Given the description of an element on the screen output the (x, y) to click on. 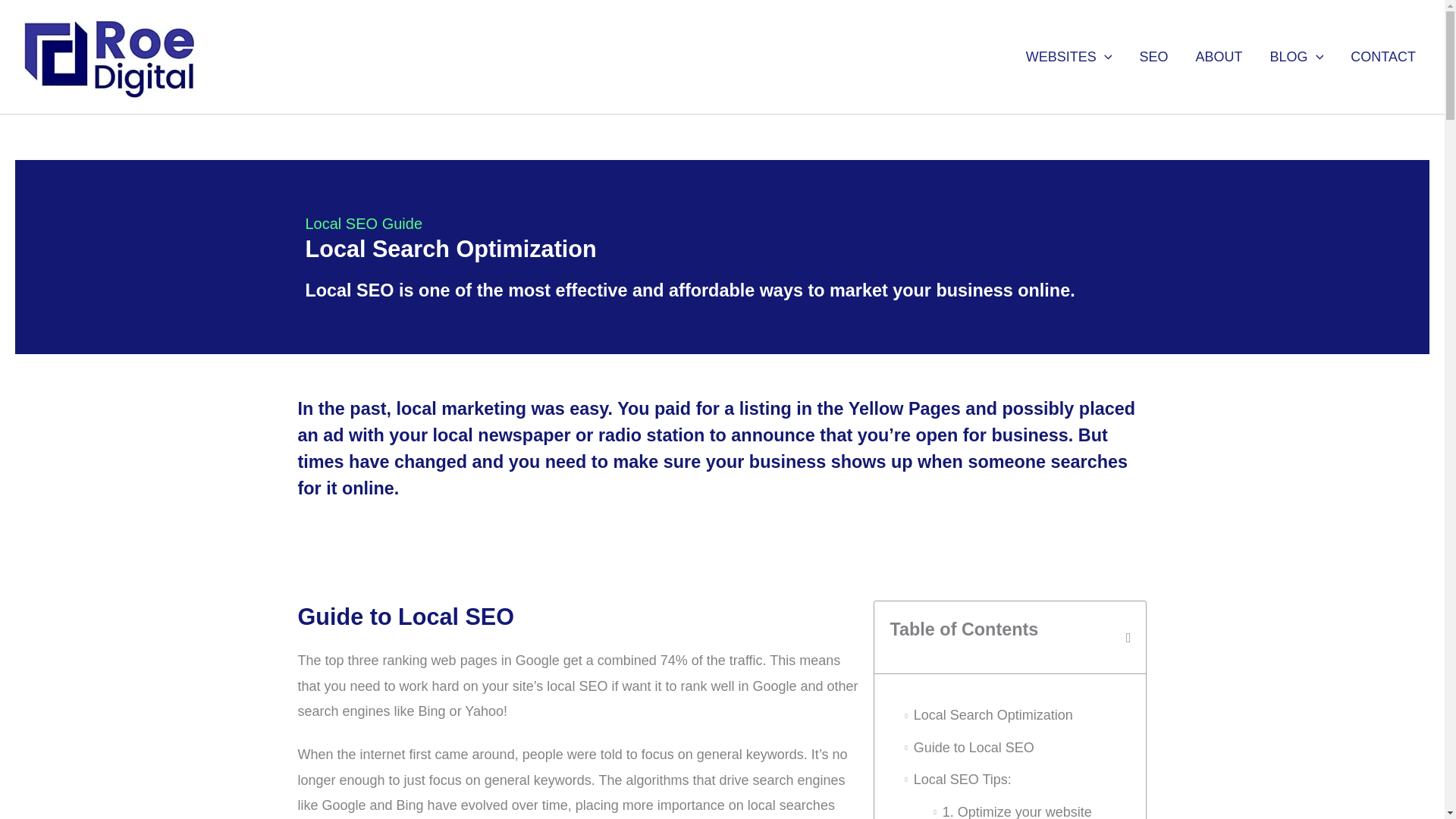
Local SEO Tips: (962, 779)
Local Search Optimization (993, 715)
WEBSITES (1068, 56)
CONTACT (1382, 56)
SEO (1152, 56)
BLOG (1295, 56)
Guide to Local SEO (973, 747)
ABOUT (1217, 56)
1. Optimize your website  (1019, 809)
